Given the description of an element on the screen output the (x, y) to click on. 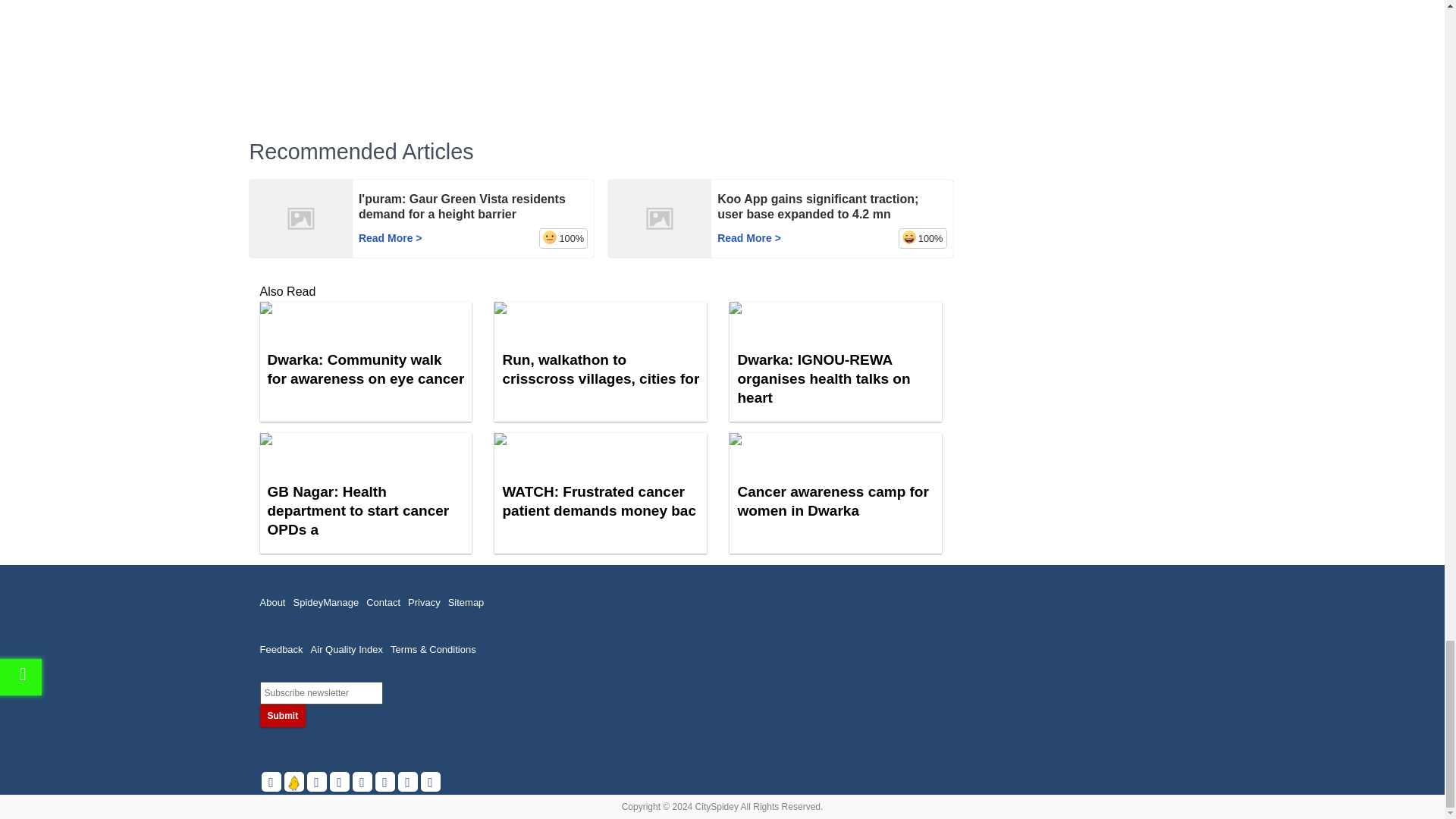
Submit (282, 715)
